Given the description of an element on the screen output the (x, y) to click on. 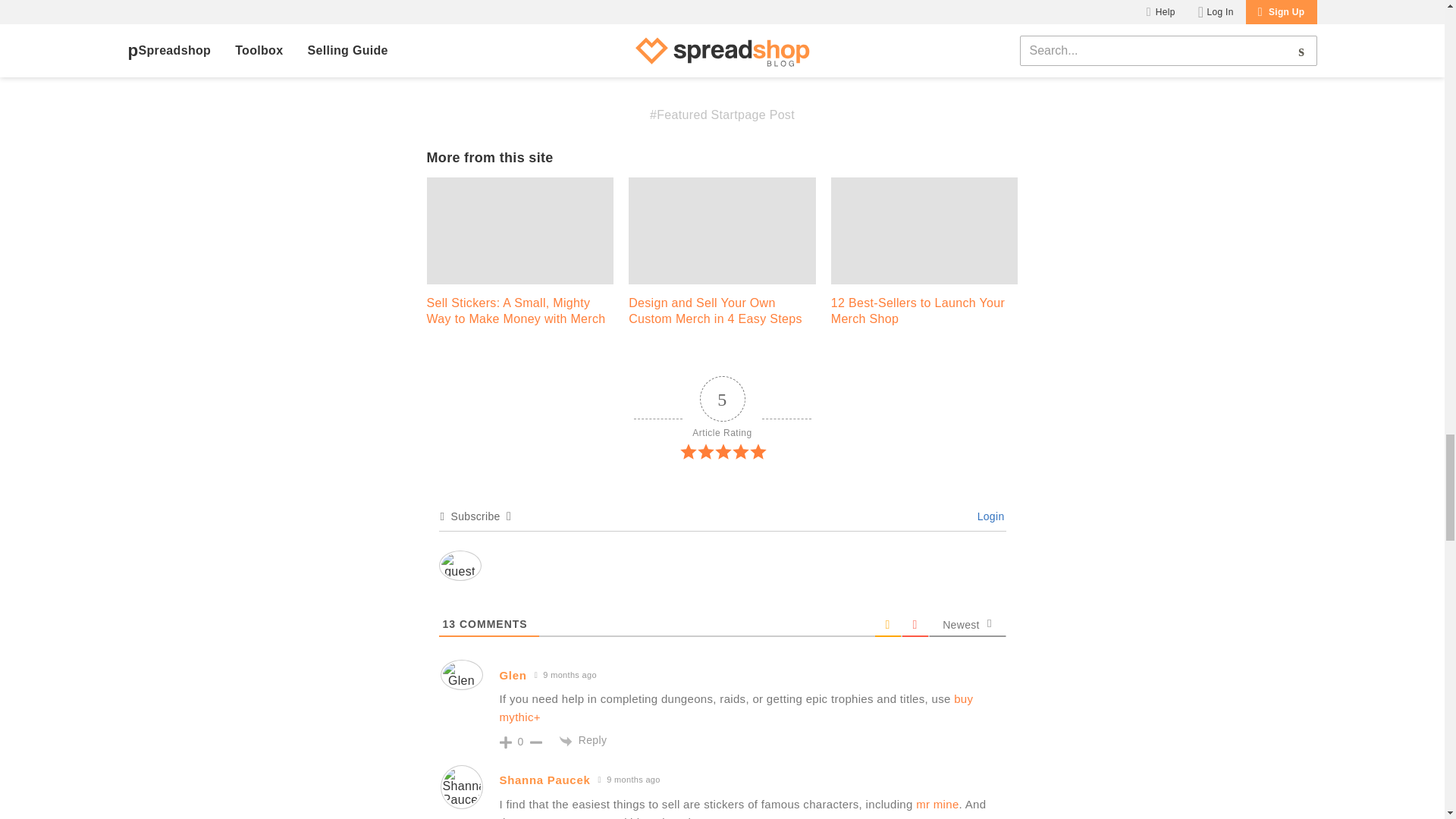
Featured Startpage Post (721, 114)
Sell Stickers: A Small, Mighty Way to Make Money with Merch (519, 256)
Design and Sell Your Own Custom Merch in 4 Easy Steps (721, 256)
share  (470, 53)
share  (556, 53)
Share on Facebook (470, 53)
12 Best-Sellers to Launch Your Merch Shop (924, 256)
Pin it on Pinterest (644, 53)
Share on X (556, 53)
Login (988, 516)
save  (644, 53)
